Given the description of an element on the screen output the (x, y) to click on. 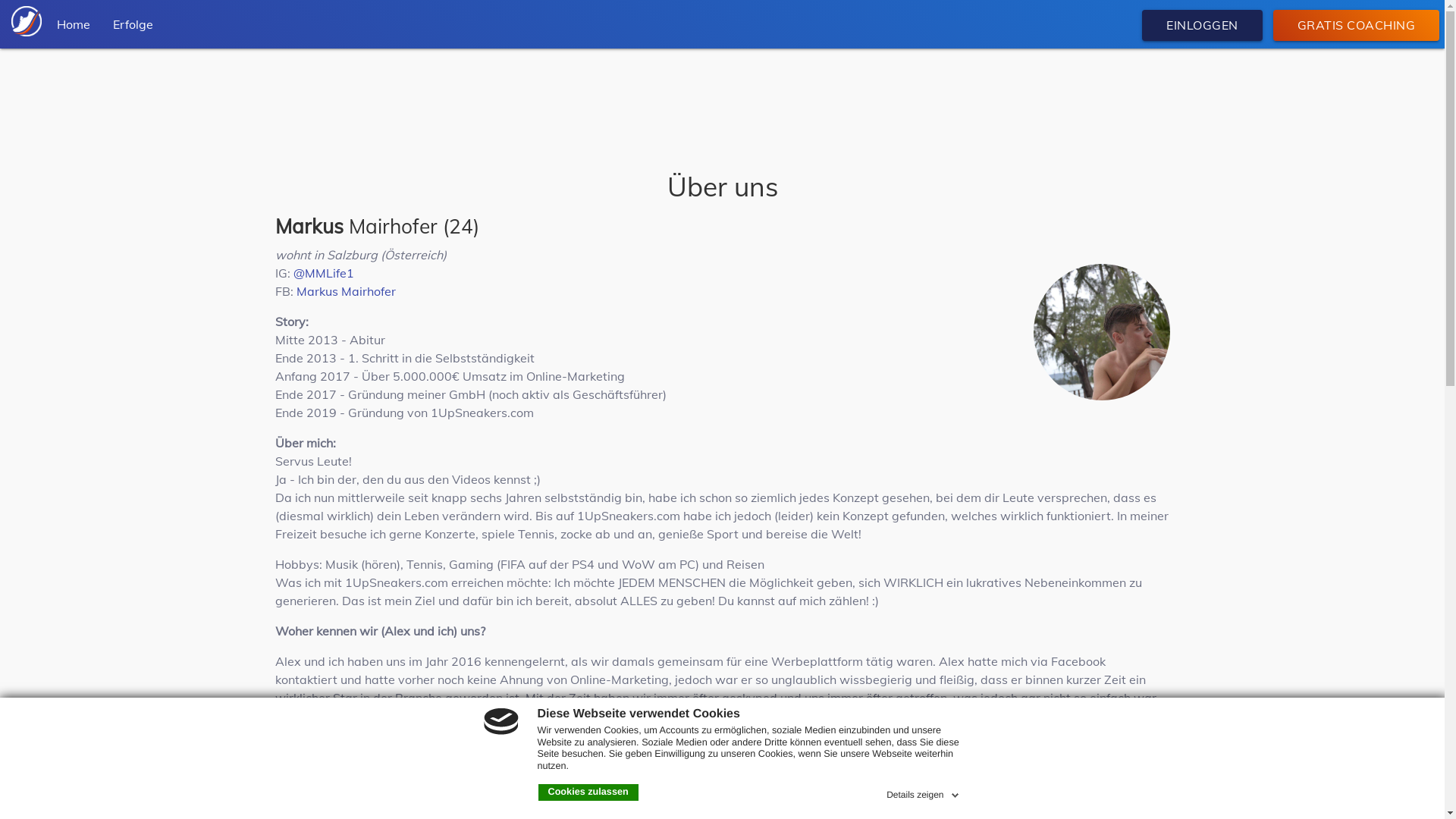
EINLOGGEN Element type: text (1202, 24)
@MMLife1 Element type: text (322, 272)
Cookies zulassen Element type: text (588, 792)
GRATIS COACHING Element type: text (1355, 24)
Erfolge Element type: text (132, 24)
Home Element type: text (73, 24)
Markus Mairhofer Element type: text (345, 290)
Details zeigen Element type: text (923, 792)
